Given the description of an element on the screen output the (x, y) to click on. 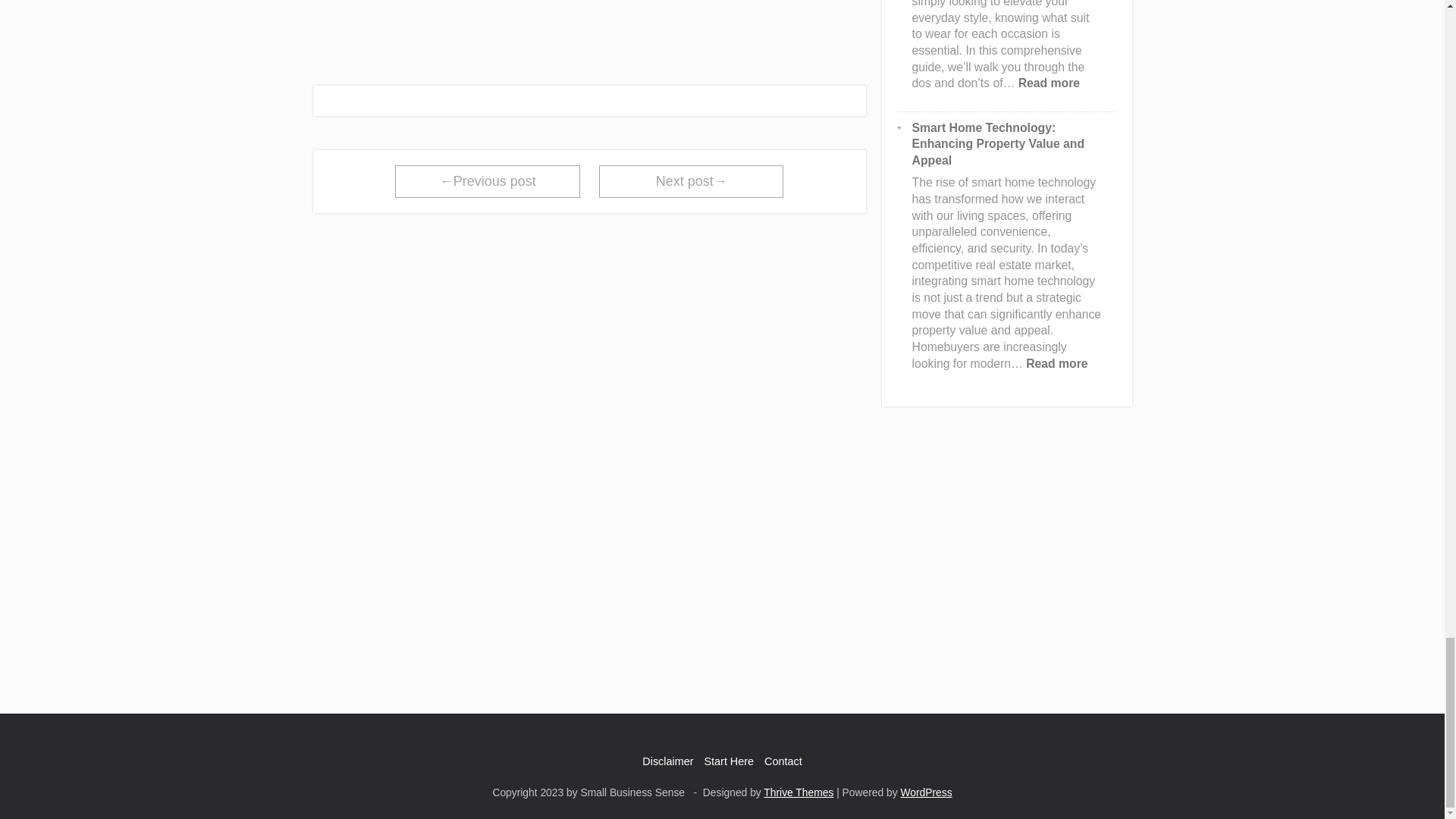
Advertisement (589, 29)
